Given the description of an element on the screen output the (x, y) to click on. 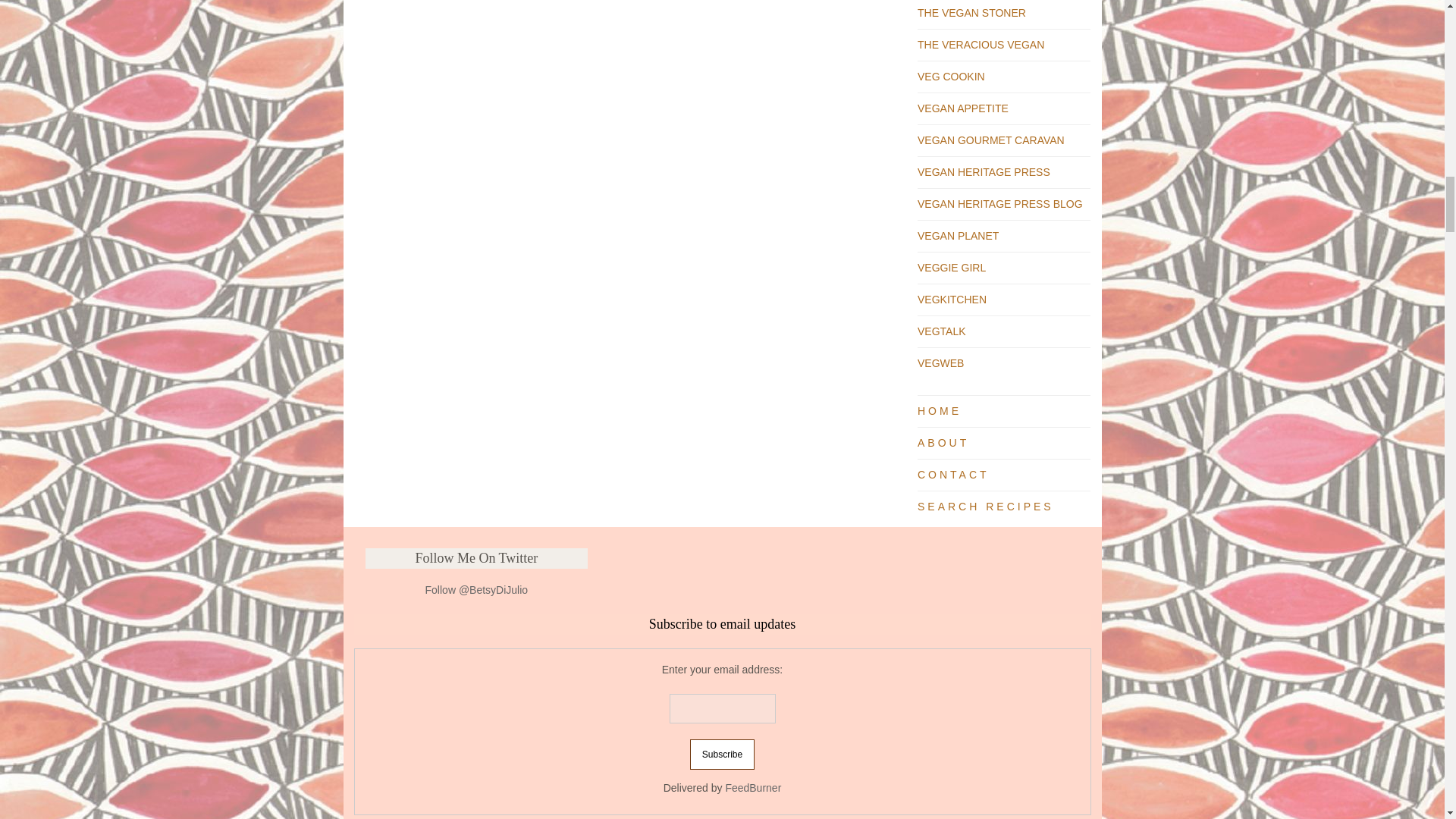
Subscribe (722, 754)
A blog owned by VegNews Magazine (940, 363)
